Given the description of an element on the screen output the (x, y) to click on. 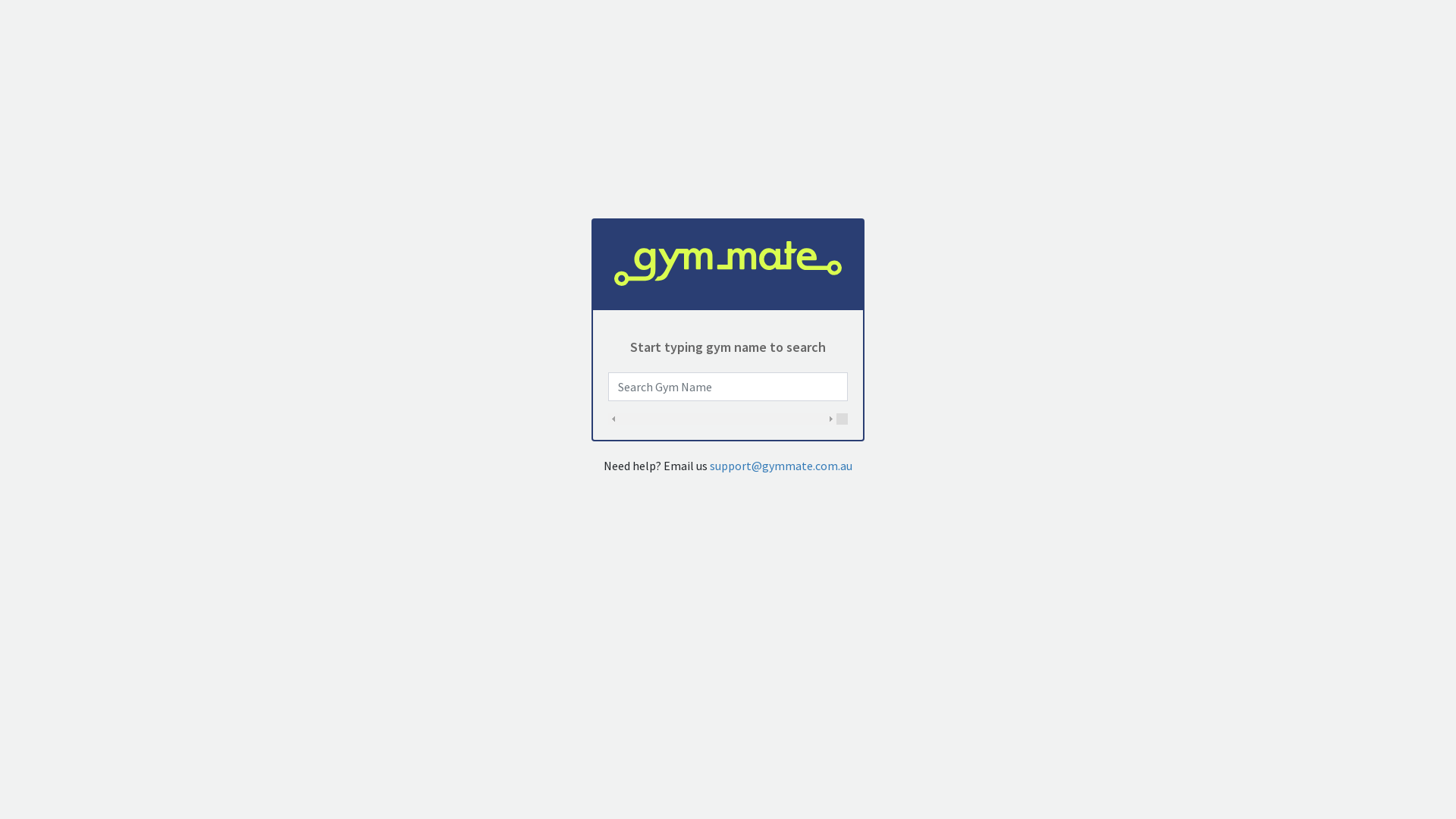
support@gymmate.com.au Element type: text (780, 465)
